Given the description of an element on the screen output the (x, y) to click on. 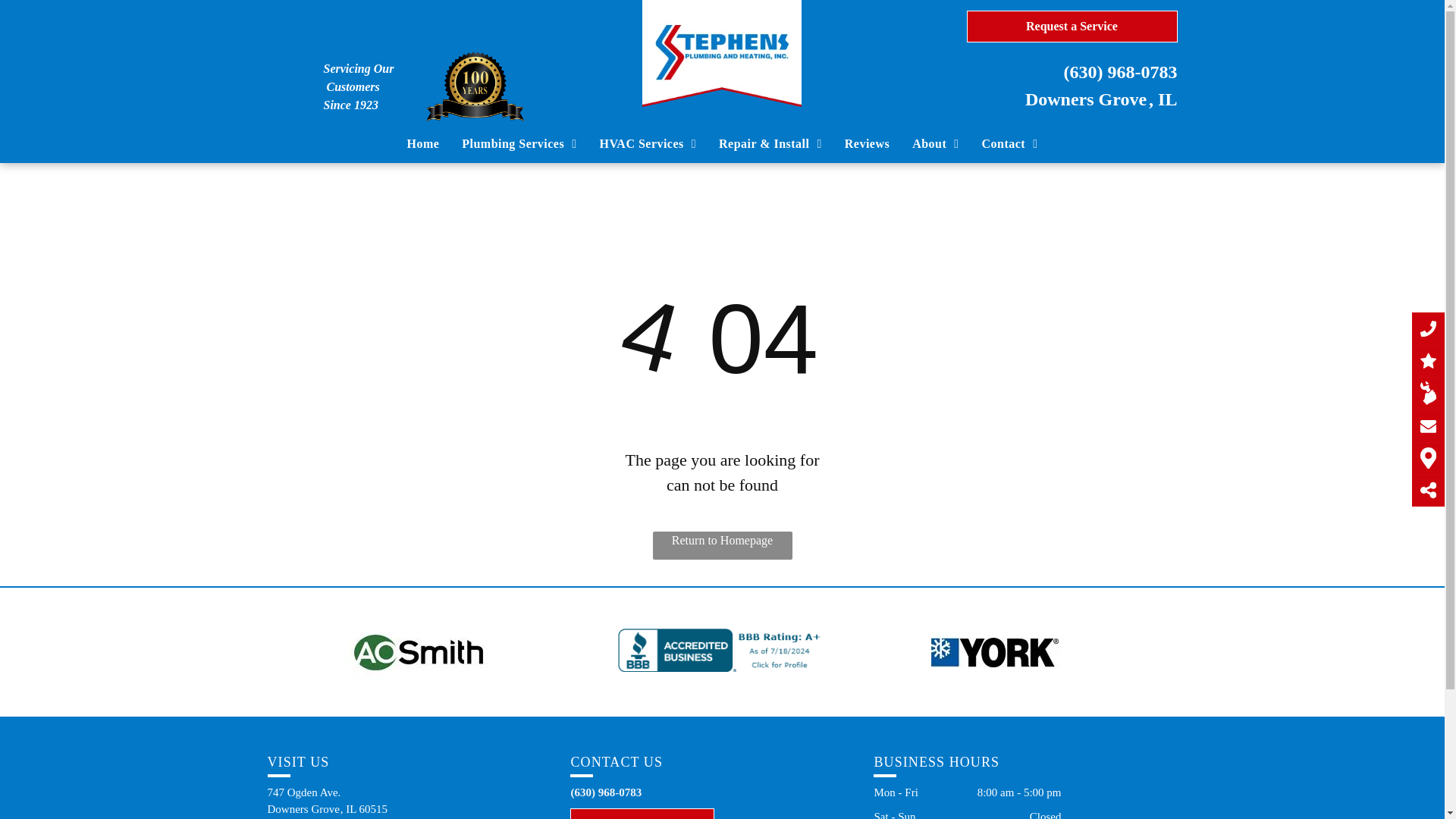
Home (423, 144)
Contact (1010, 144)
HVAC Services (647, 144)
Plumbing Services (518, 144)
About (935, 144)
Reviews (866, 144)
Request a Service (1071, 26)
Return to Homepage (722, 545)
Send a Message (642, 813)
